Given the description of an element on the screen output the (x, y) to click on. 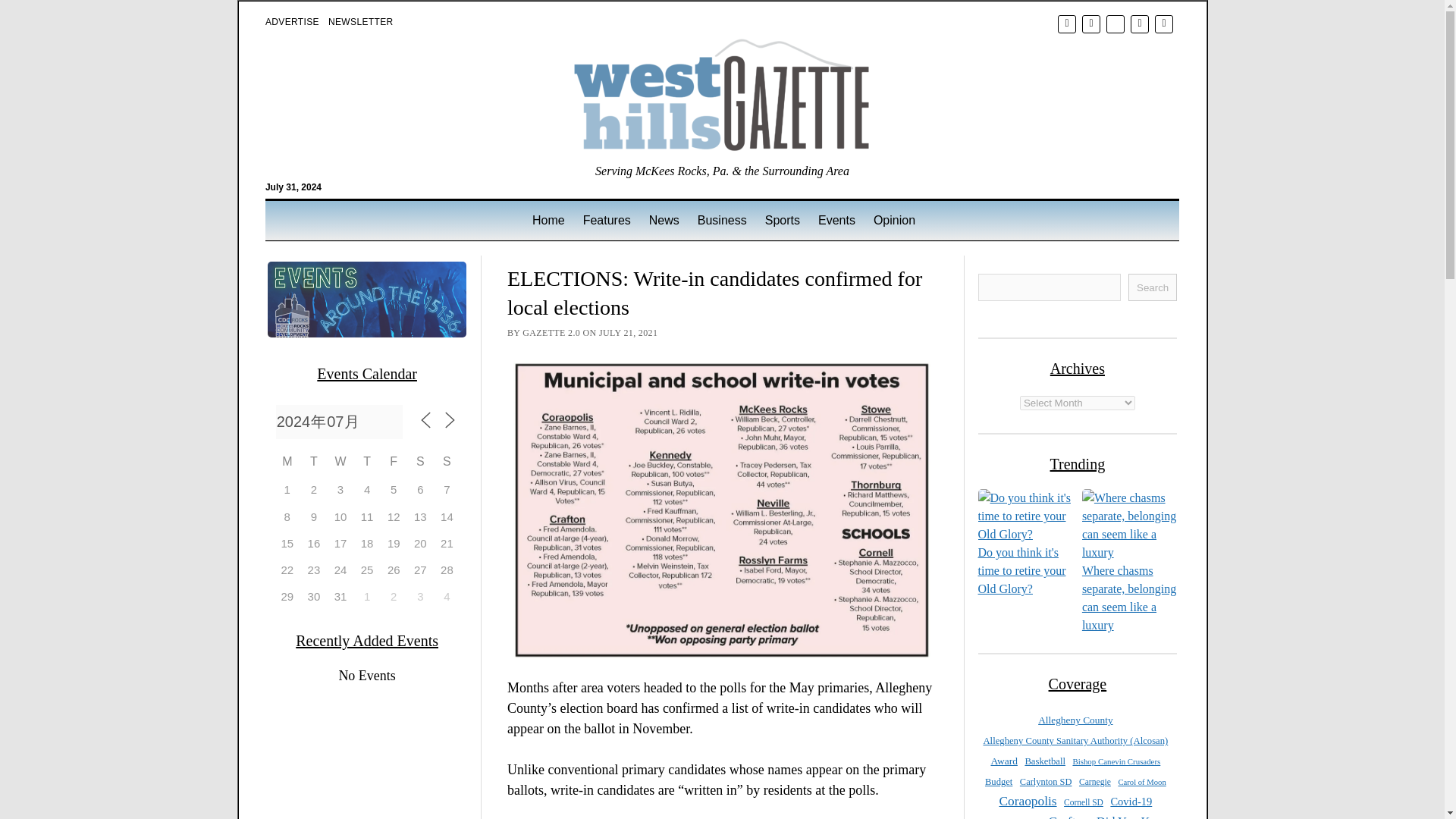
Events (836, 220)
Home (547, 220)
ADVERTISE (291, 21)
Allegheny County (1075, 720)
Sports (782, 220)
Features (606, 220)
2024-07 (339, 421)
Opinion (894, 220)
NEWSLETTER (361, 21)
Search (1152, 287)
Where chasms separate, belonging can seem like a luxury (1128, 597)
News (664, 220)
Business (721, 220)
Do you think it's time to retire your Old Glory? (1021, 570)
Search (945, 129)
